Given the description of an element on the screen output the (x, y) to click on. 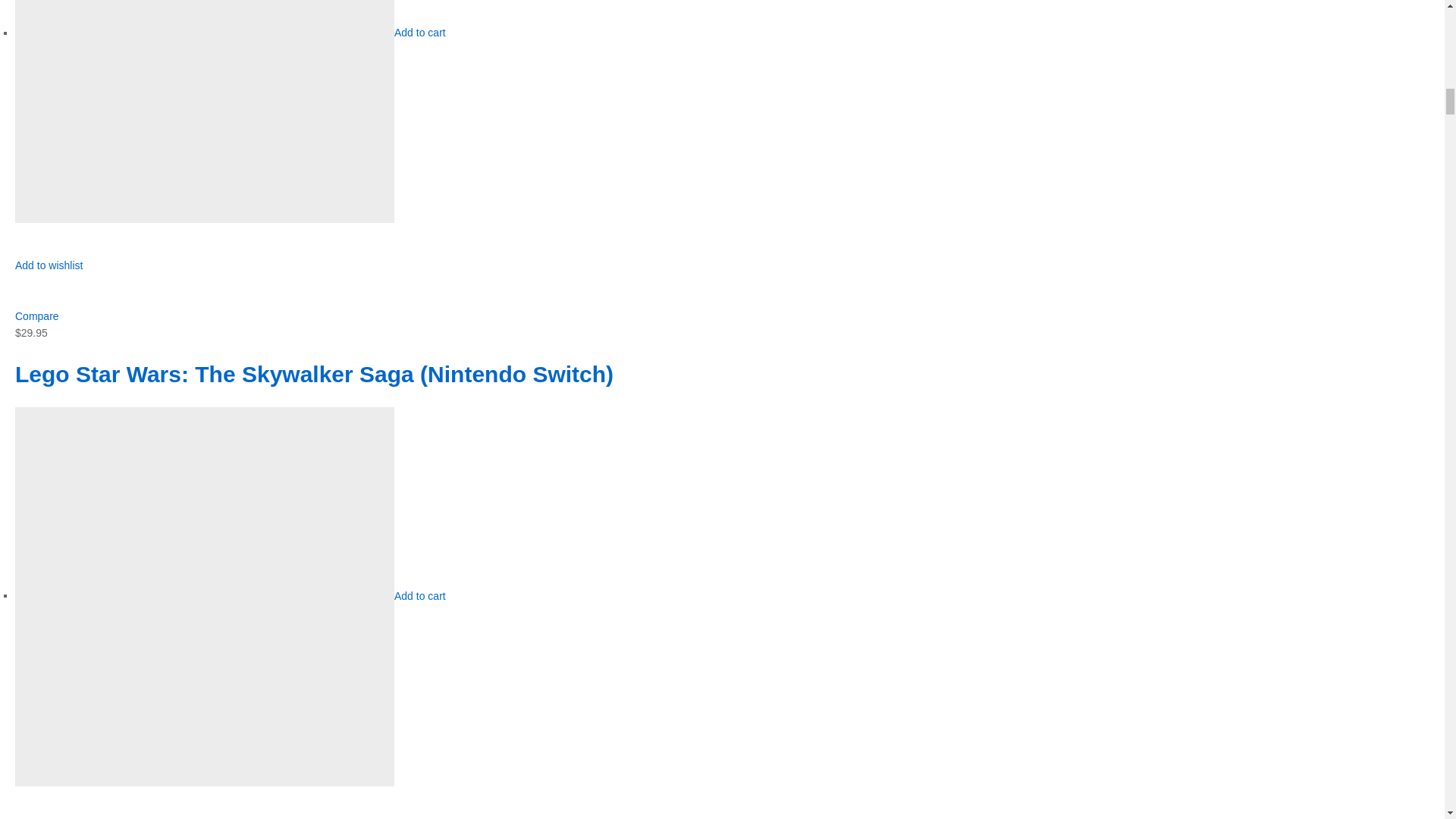
Compare (36, 316)
Add to wishlist (48, 273)
Compare (36, 316)
Add to cart (419, 32)
Add to cart (419, 594)
Add to wishlist (48, 273)
